Given the description of an element on the screen output the (x, y) to click on. 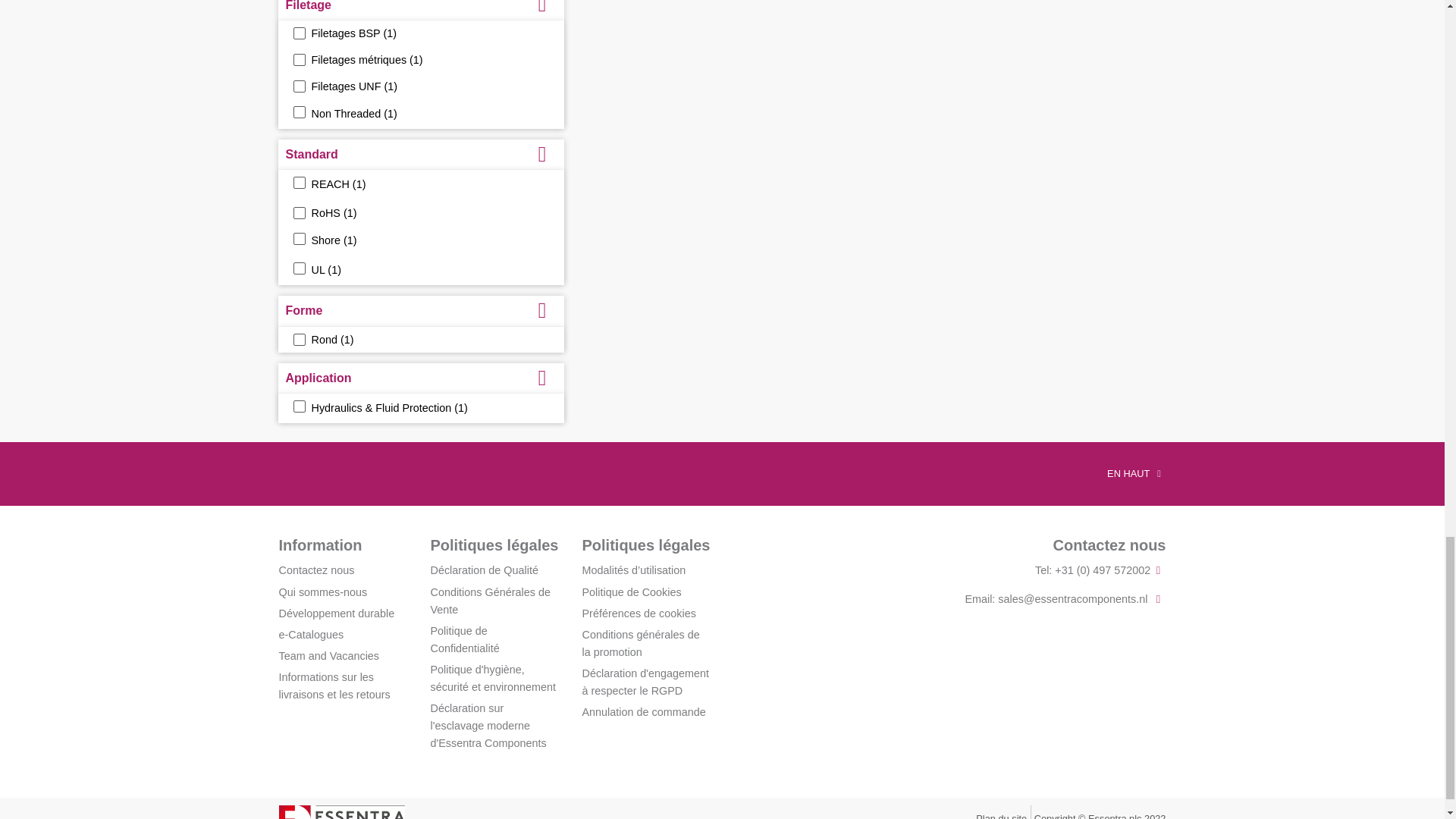
Shore (298, 238)
Filetages UNF (298, 86)
Filetages BSP (298, 33)
REACH (298, 182)
RoHS (298, 213)
Non Threaded (298, 111)
UL (298, 268)
